Given the description of an element on the screen output the (x, y) to click on. 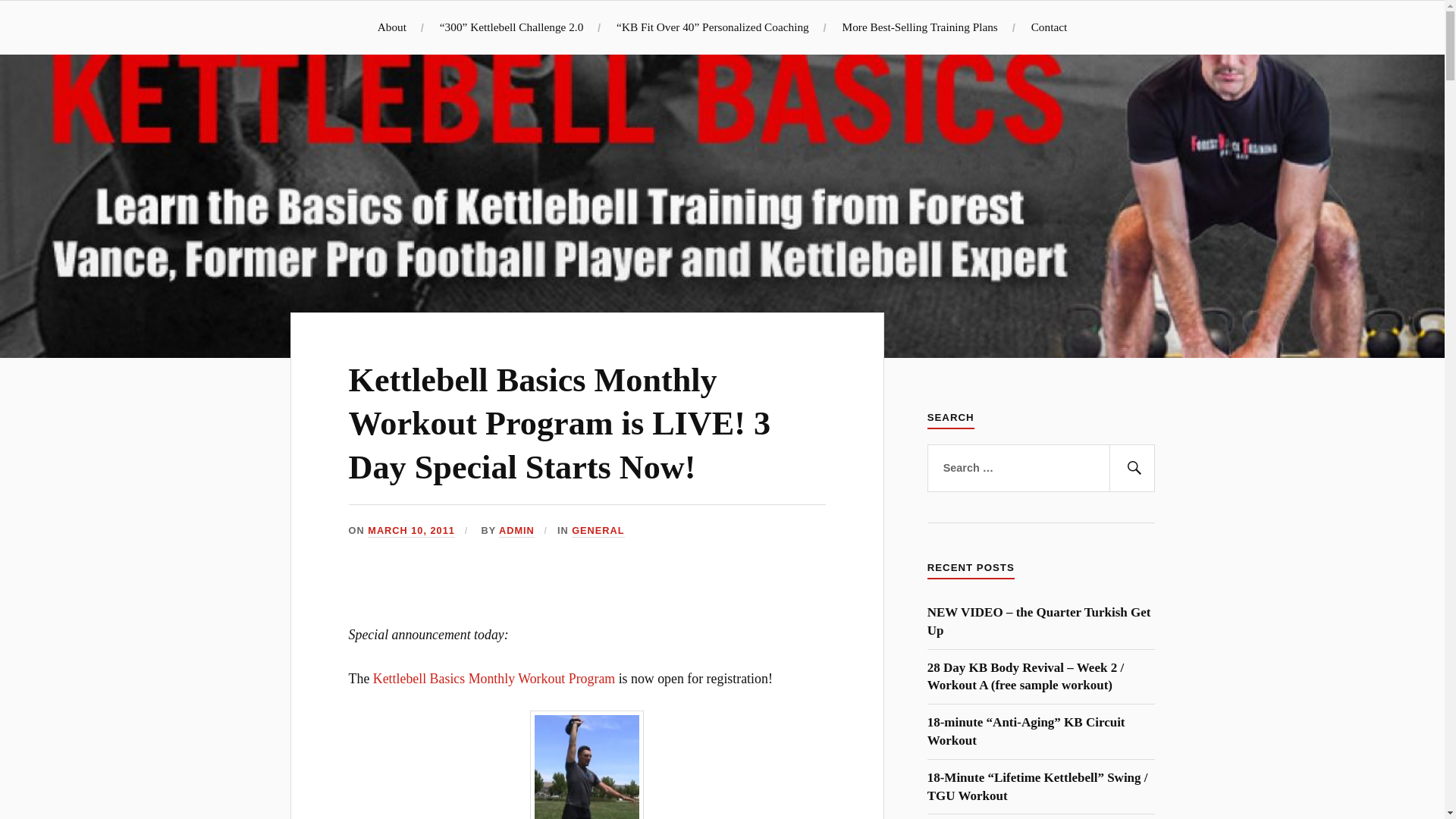
Search (1131, 468)
Kettlebell Basics Monthly Workout Program (493, 678)
Kettlebell Basics (174, 42)
More Best-Selling Training Plans (920, 27)
Search for: (1040, 468)
ADMIN (516, 530)
GENERAL (598, 530)
MARCH 10, 2011 (411, 530)
